Given the description of an element on the screen output the (x, y) to click on. 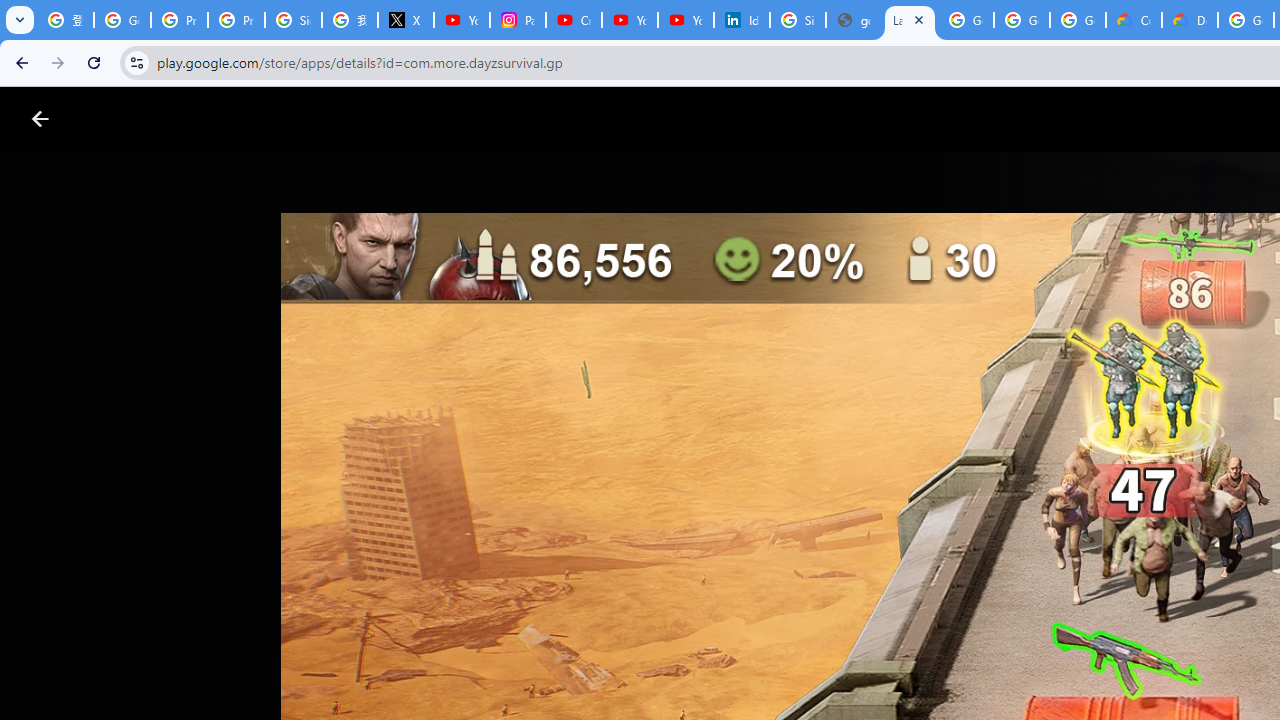
Last Shelter: Survival - Apps on Google Play (909, 20)
YouTube Culture & Trends - YouTube Top 10, 2021 (685, 20)
Apps (321, 119)
